Given the description of an element on the screen output the (x, y) to click on. 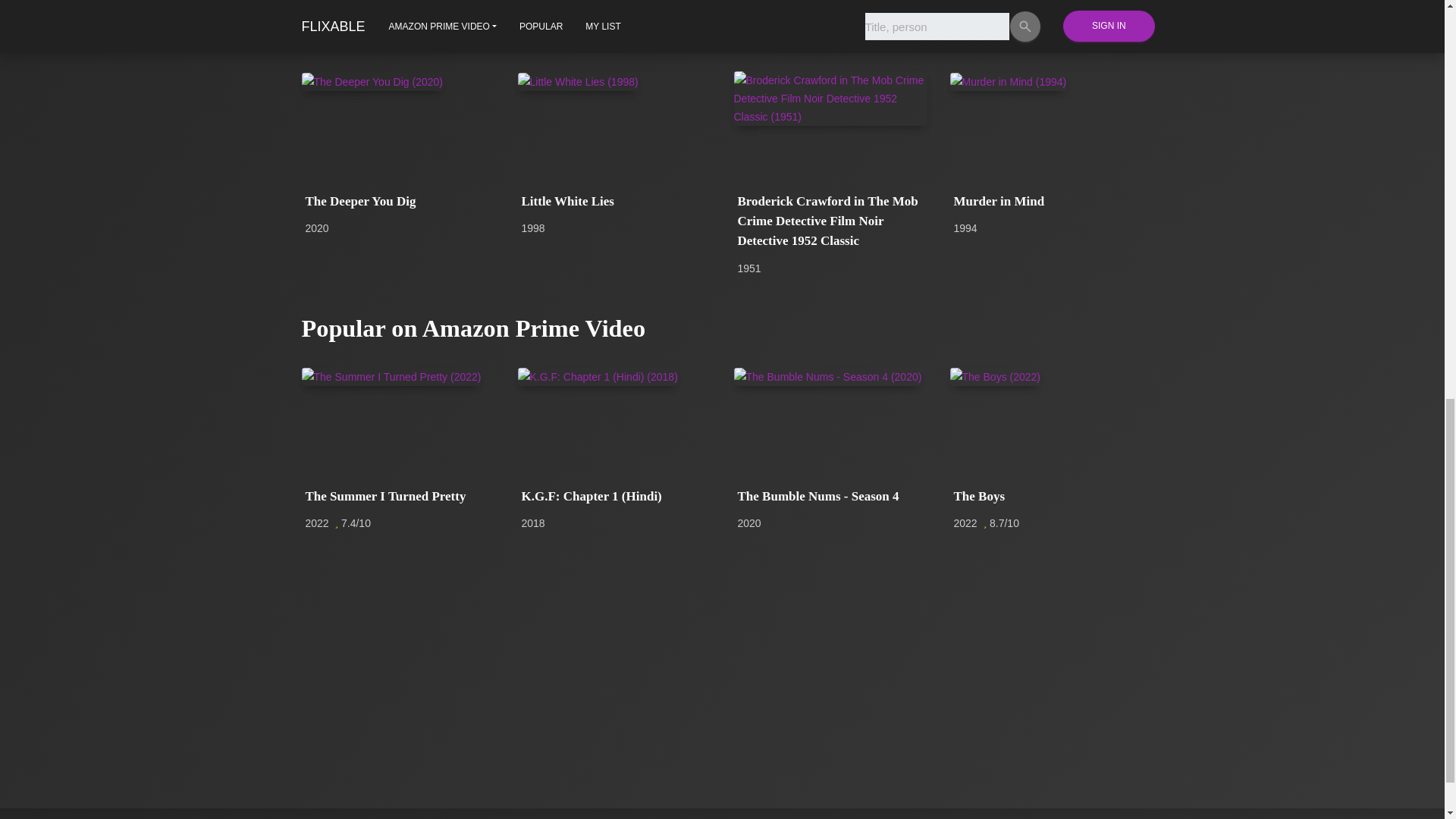
Little White Lies (614, 201)
The Deeper You Dig (397, 201)
